Given the description of an element on the screen output the (x, y) to click on. 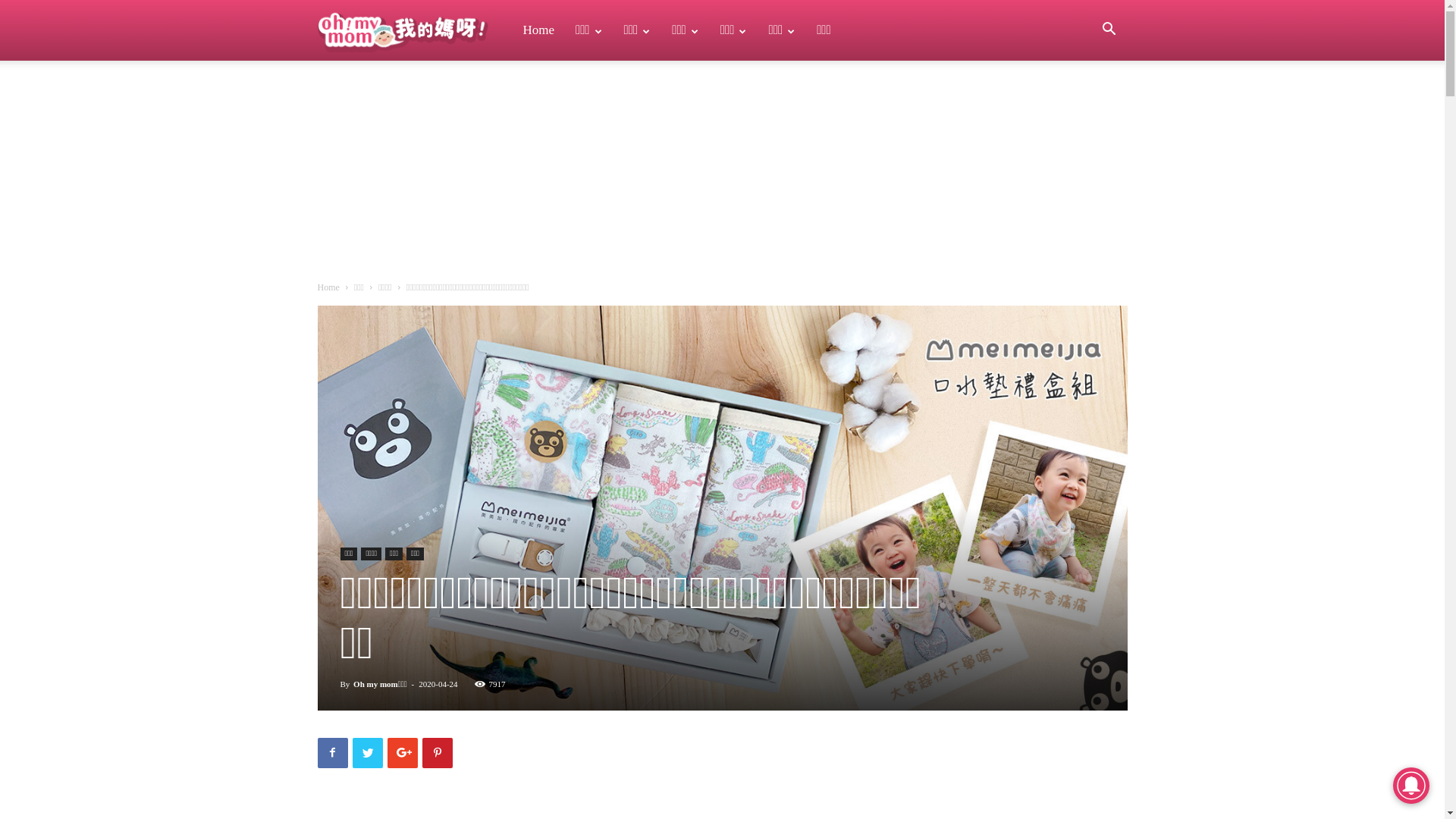
Home Element type: text (327, 287)
Search Element type: text (1086, 103)
Advertisement Element type: hover (722, 174)
0424-BN Element type: hover (721, 507)
Home Element type: text (537, 30)
